Given the description of an element on the screen output the (x, y) to click on. 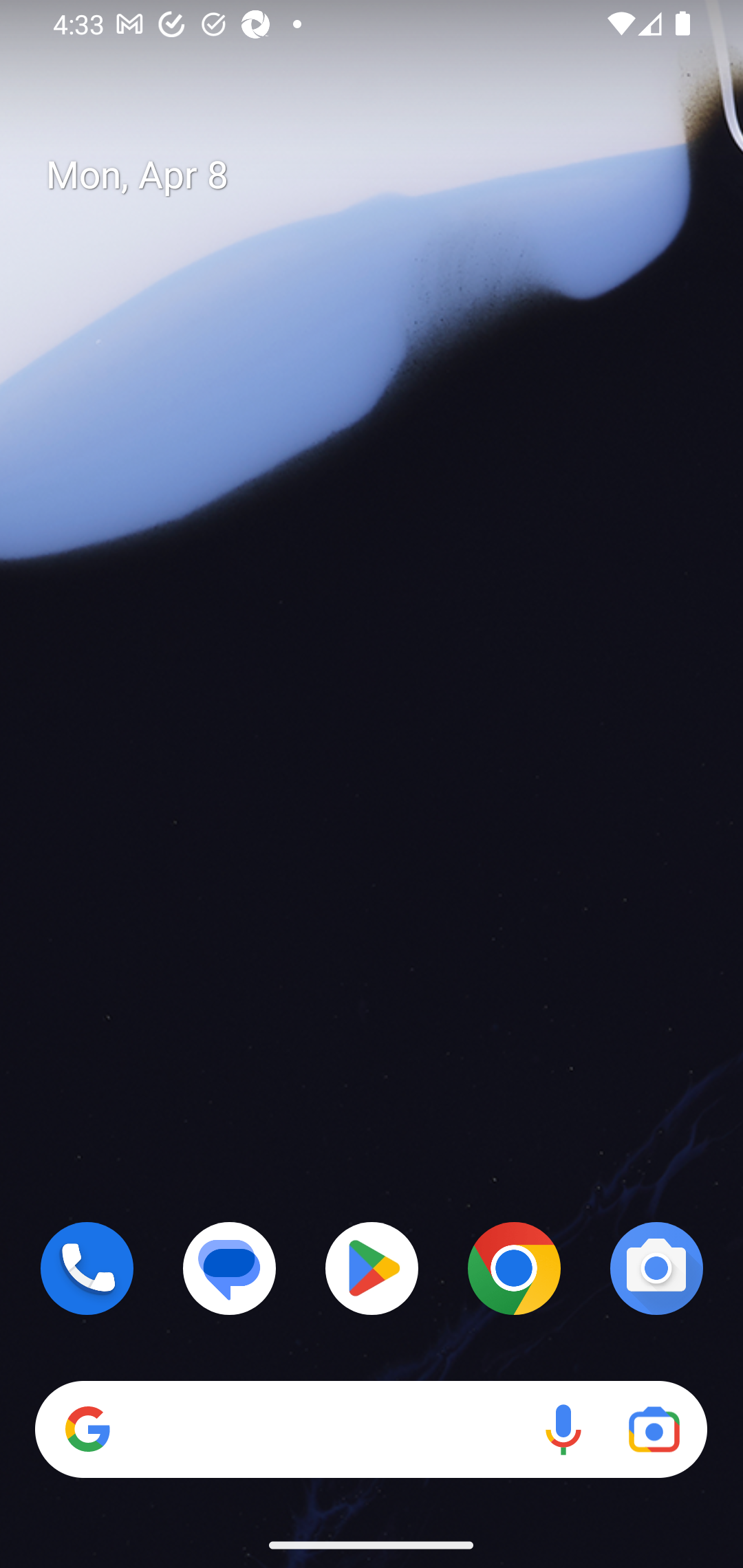
Mon, Apr 8 (386, 175)
Phone (86, 1268)
Messages (229, 1268)
Play Store (371, 1268)
Chrome (513, 1268)
Camera (656, 1268)
Search Voice search Google Lens (370, 1429)
Voice search (562, 1429)
Google Lens (653, 1429)
